Given the description of an element on the screen output the (x, y) to click on. 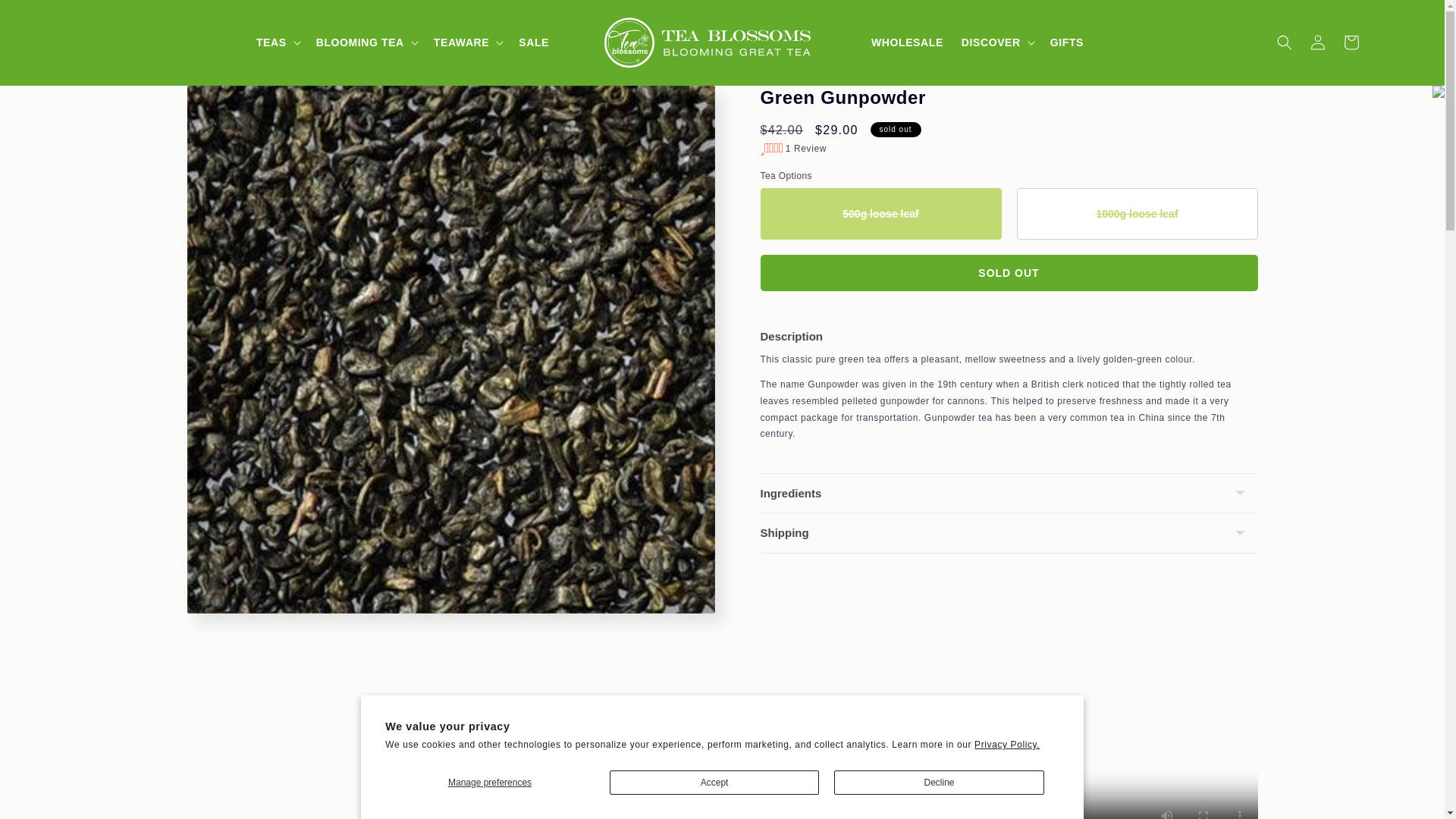
Manage preferences (489, 782)
SKIP TO CONTENT (45, 15)
Decline (938, 782)
Accept (714, 782)
Privacy Policy. (1006, 744)
